Given the description of an element on the screen output the (x, y) to click on. 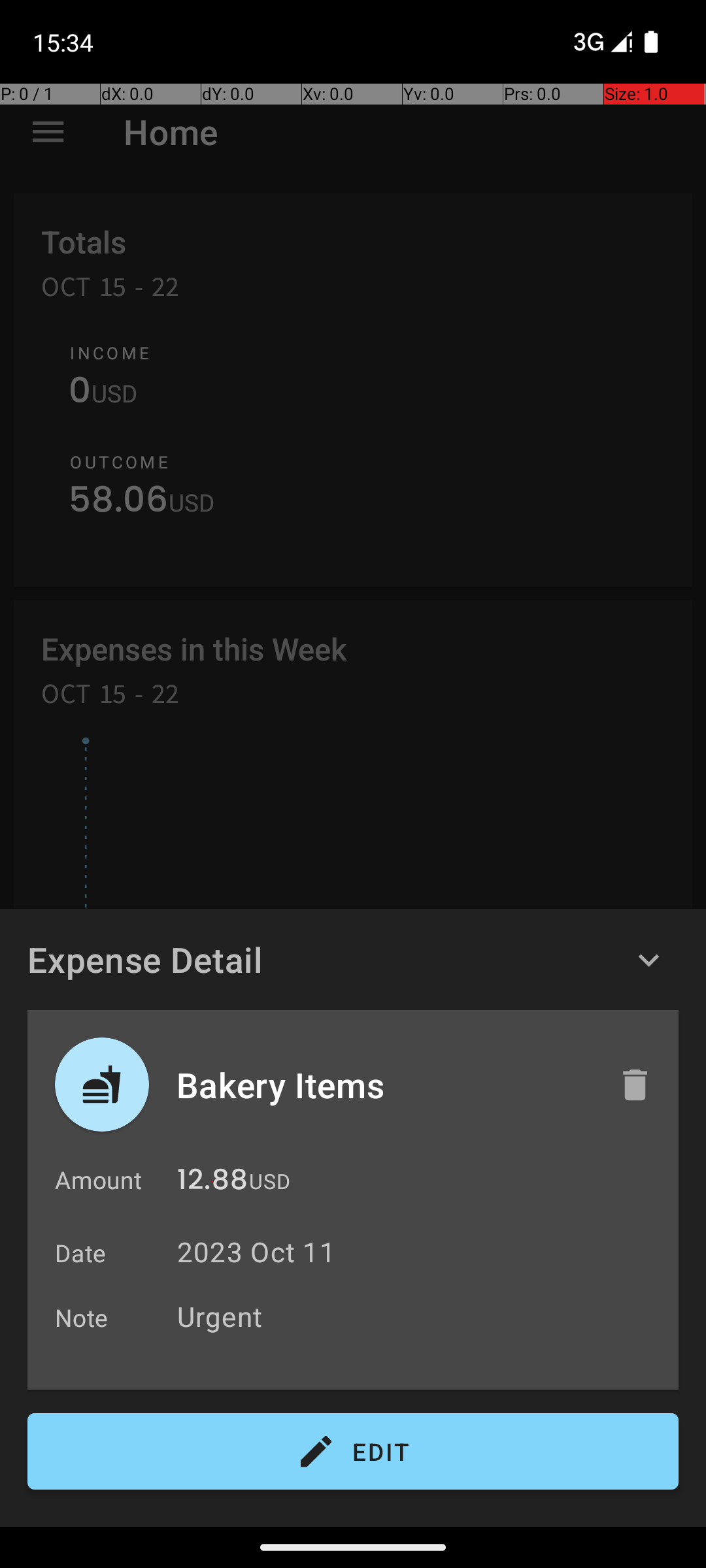
Bakery Items Element type: android.widget.TextView (383, 1084)
12.88 Element type: android.widget.TextView (212, 1182)
2023 Oct 11 Element type: android.widget.TextView (256, 1251)
Urgent Element type: android.widget.TextView (420, 1315)
